Given the description of an element on the screen output the (x, y) to click on. 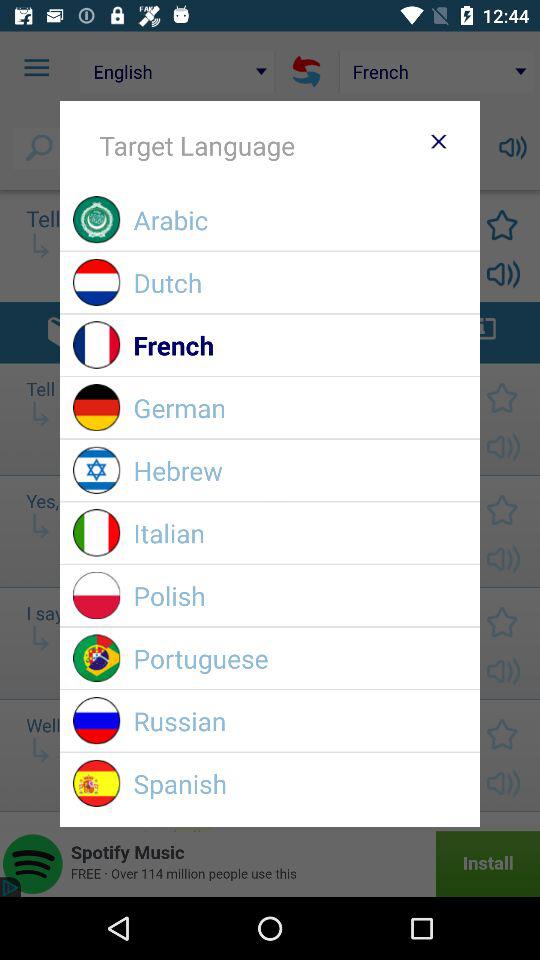
scroll until the polish item (300, 595)
